Given the description of an element on the screen output the (x, y) to click on. 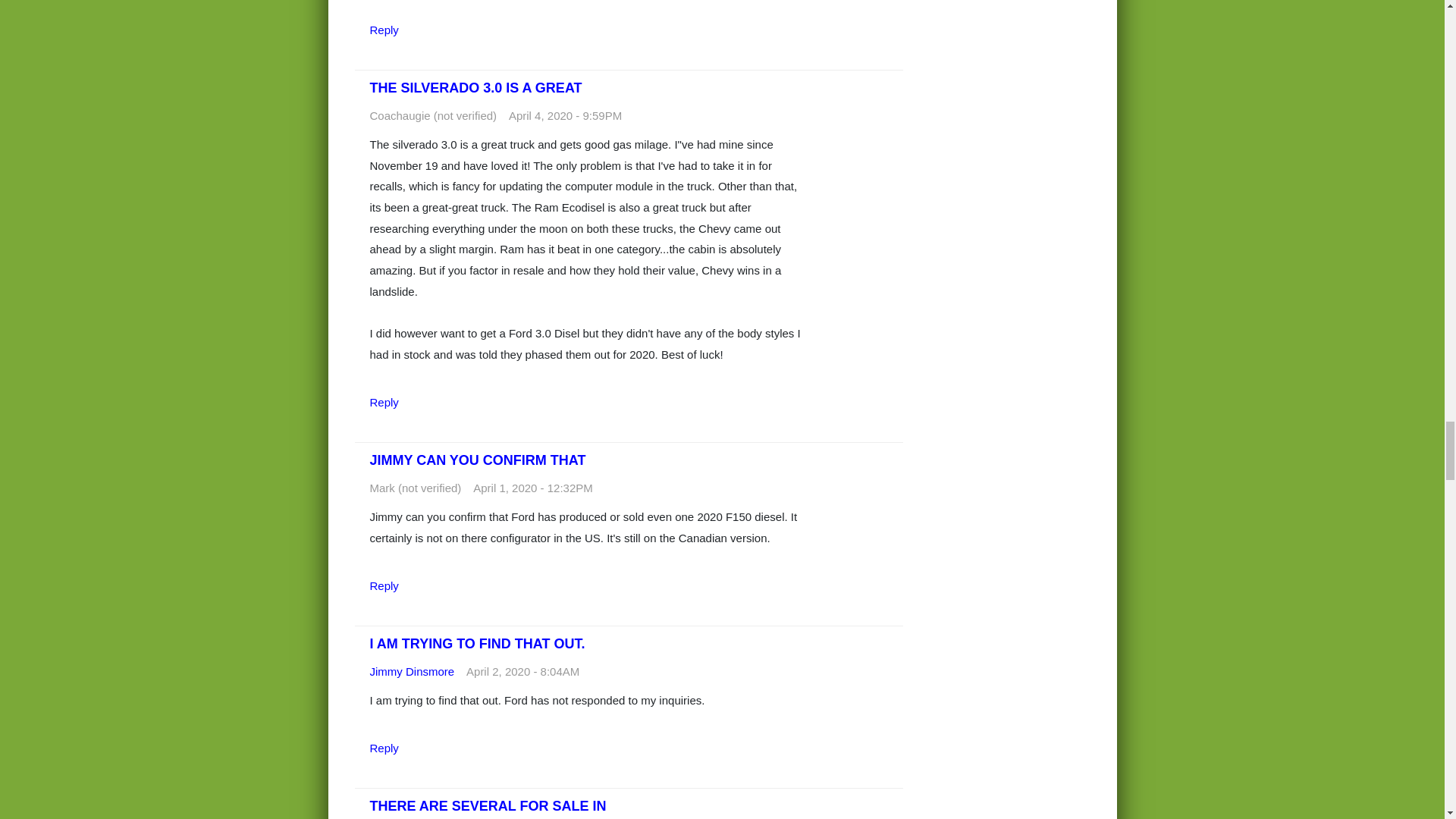
View user profile. (411, 671)
